Given the description of an element on the screen output the (x, y) to click on. 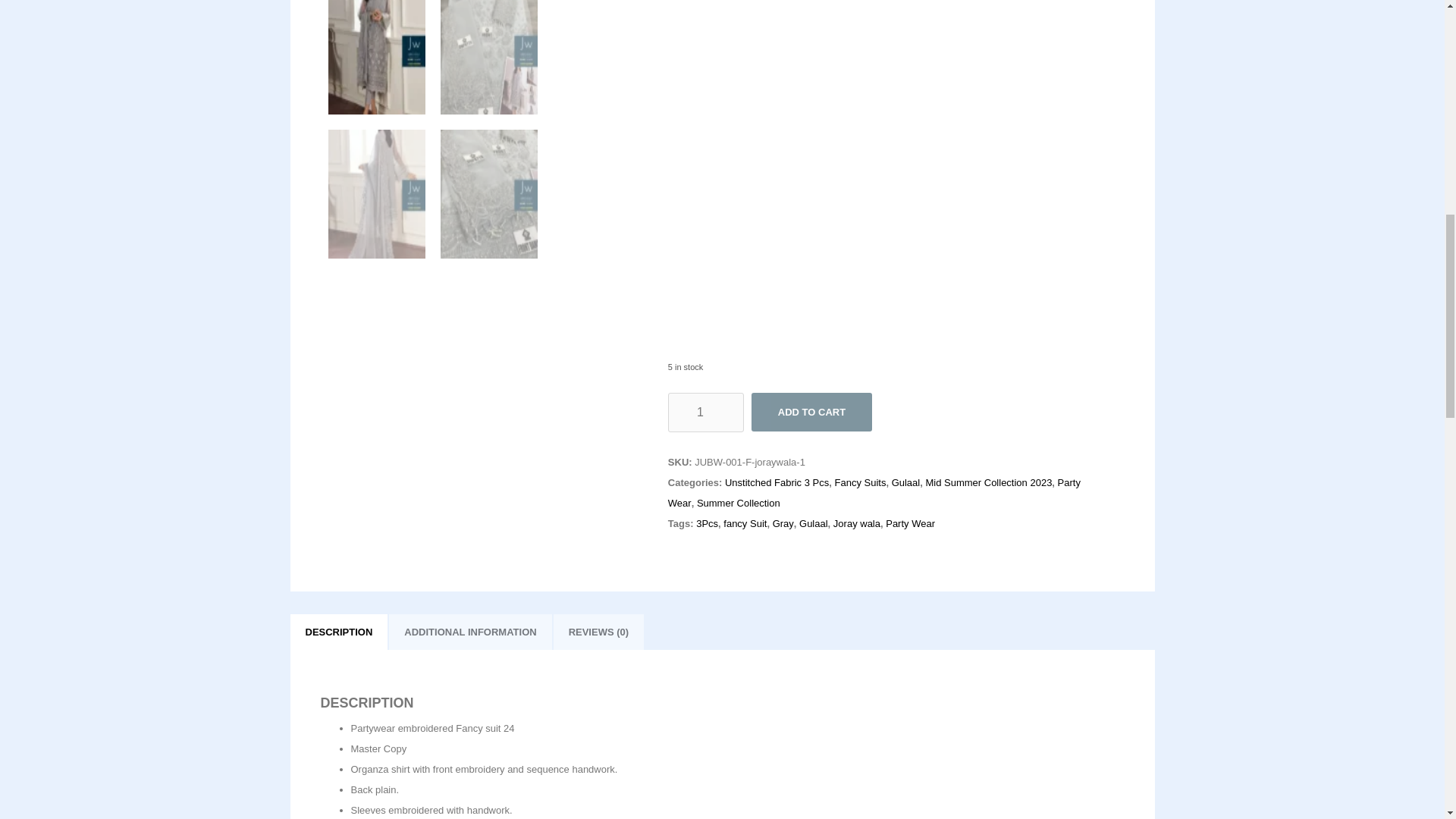
1 (706, 412)
YouTube video player (787, 163)
